Given the description of an element on the screen output the (x, y) to click on. 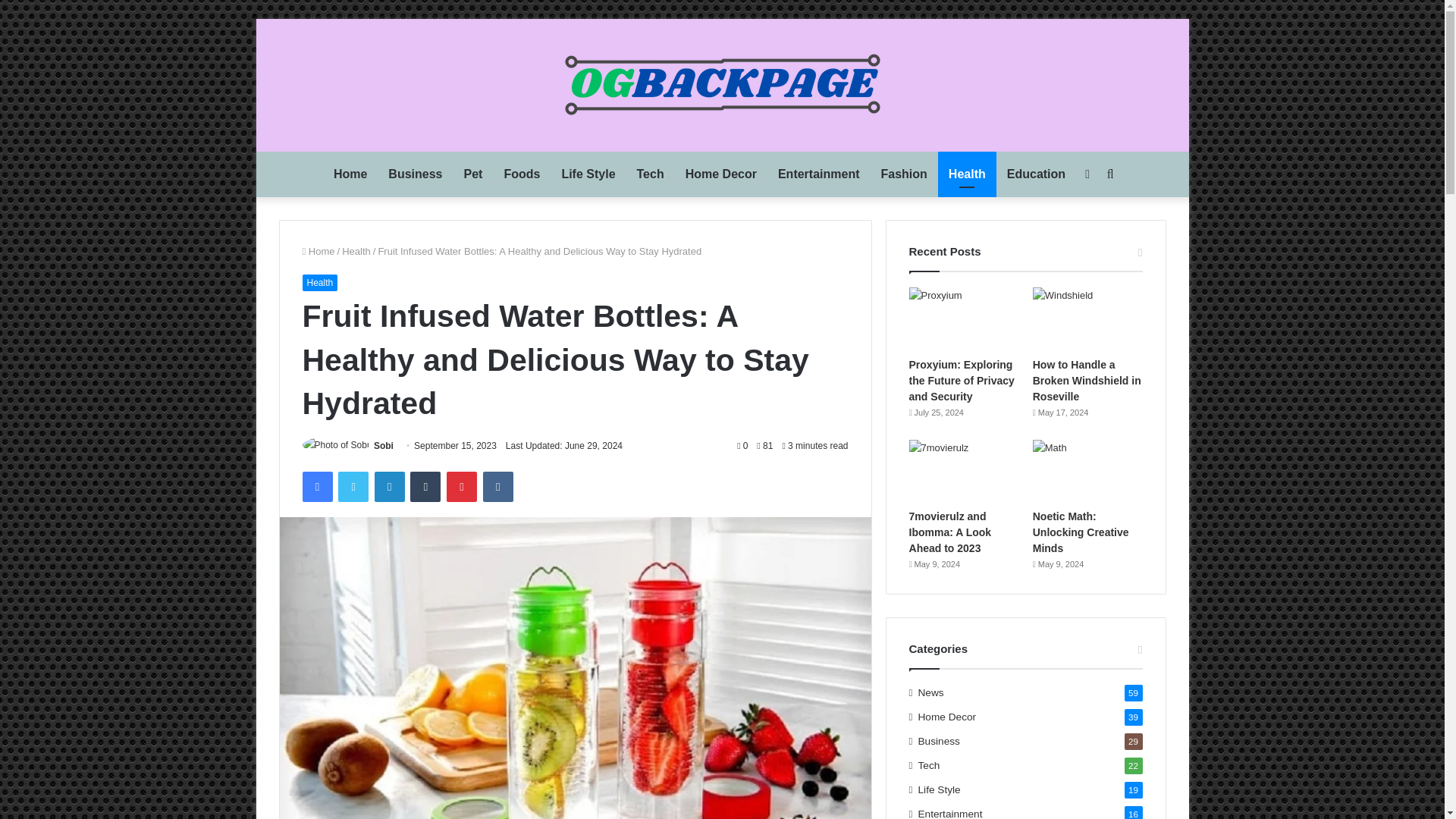
Twitter (352, 486)
Life Style (588, 174)
Education (1035, 174)
Sobi (383, 445)
Facebook (316, 486)
Fashion (903, 174)
Health (966, 174)
LinkedIn (389, 486)
Sobi (383, 445)
Home Decor (721, 174)
